Given the description of an element on the screen output the (x, y) to click on. 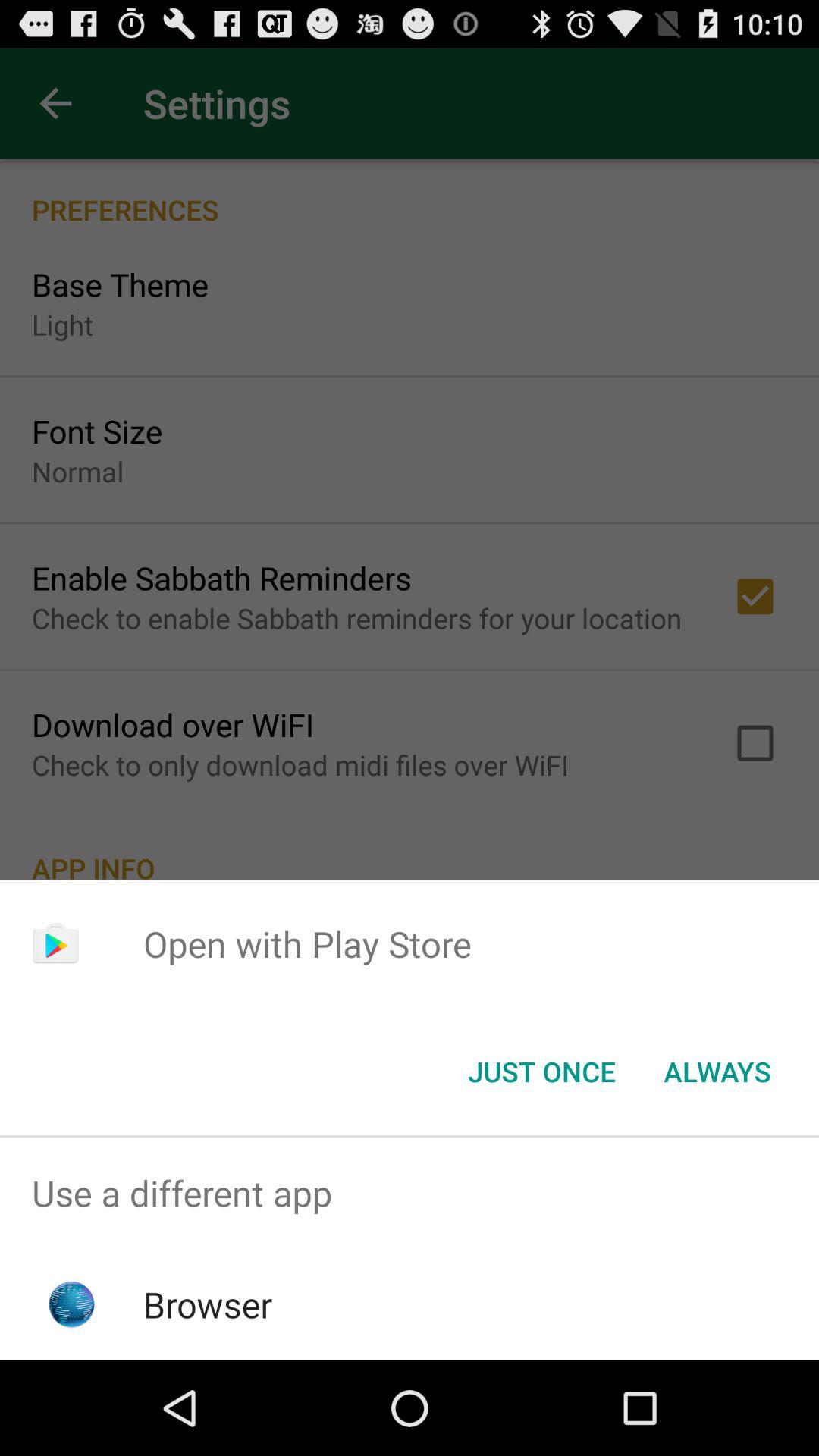
jump to browser icon (207, 1304)
